Given the description of an element on the screen output the (x, y) to click on. 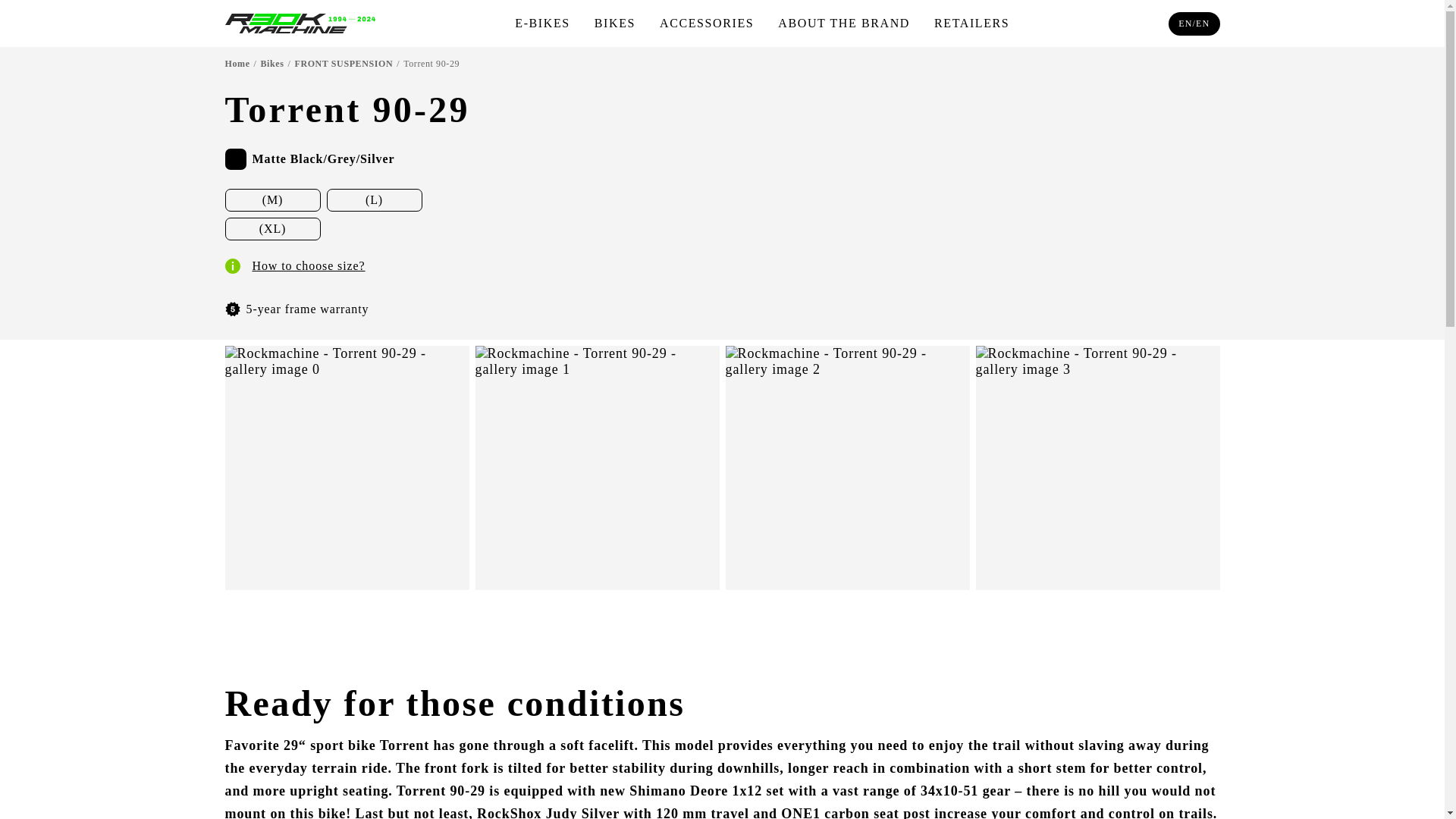
E-BIKES (542, 23)
Bikes (271, 63)
FRONT SUSPENSION (343, 63)
RETAILERS (971, 23)
ACCESSORIES (706, 23)
BIKES (614, 23)
5-year frame warranty (296, 309)
Home (236, 63)
ABOUT THE BRAND (843, 23)
How to choose size? (294, 265)
